Given the description of an element on the screen output the (x, y) to click on. 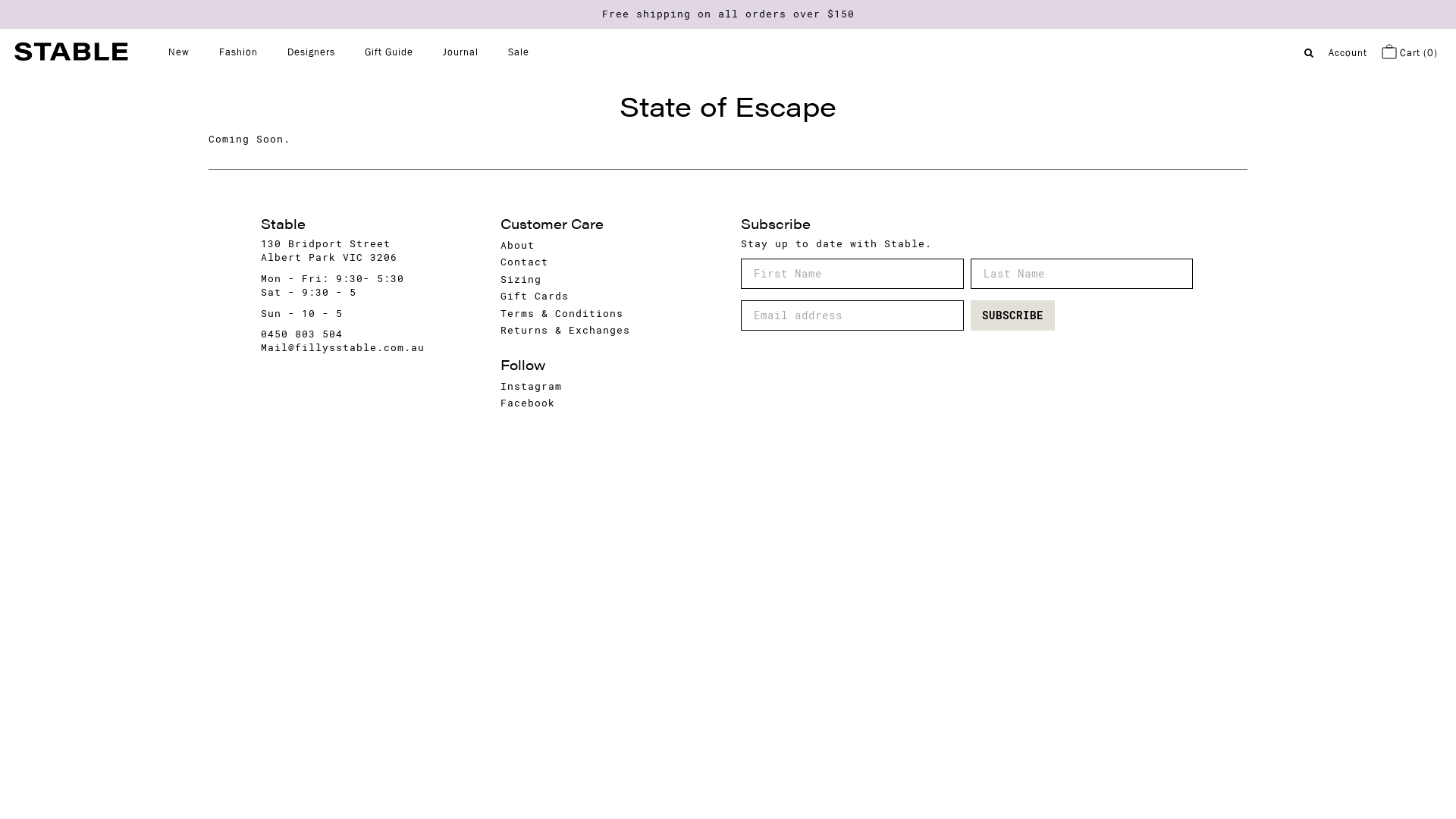
Subscribe Element type: text (1012, 315)
Designers Element type: text (311, 51)
Sizing Element type: text (520, 279)
Returns & Exchanges Element type: text (565, 329)
Gift Guide Element type: text (388, 51)
Cart (0) Element type: text (1409, 52)
Instagram Element type: text (530, 386)
Account Element type: text (1347, 52)
Fashion Element type: text (238, 51)
Sale Element type: text (518, 51)
Facebook Element type: text (527, 402)
Journal Element type: text (460, 51)
Contact Element type: text (524, 261)
Gift Cards Element type: text (534, 295)
New Element type: text (178, 51)
Terms & Conditions Element type: text (561, 313)
About Element type: text (517, 245)
